Given the description of an element on the screen output the (x, y) to click on. 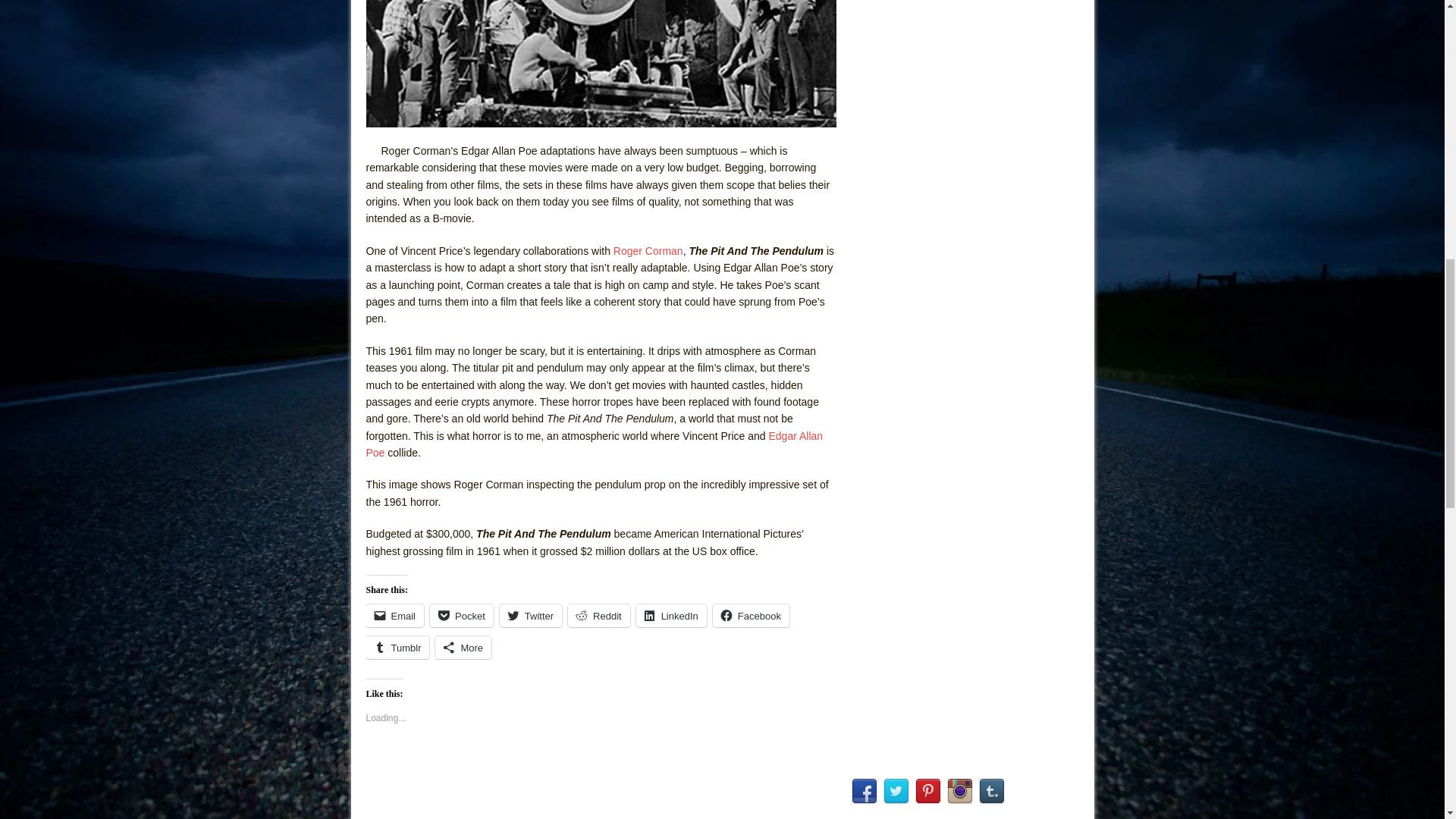
Click to email a link to a friend (394, 615)
Click to share on Twitter (530, 615)
Click to share on Pocket (461, 615)
Edgar Allan Poe (593, 443)
Click to share on Tumblr (397, 647)
LinkedIn (671, 615)
Twitter (530, 615)
More (463, 647)
Reddit (598, 615)
Pocket (461, 615)
